Given the description of an element on the screen output the (x, y) to click on. 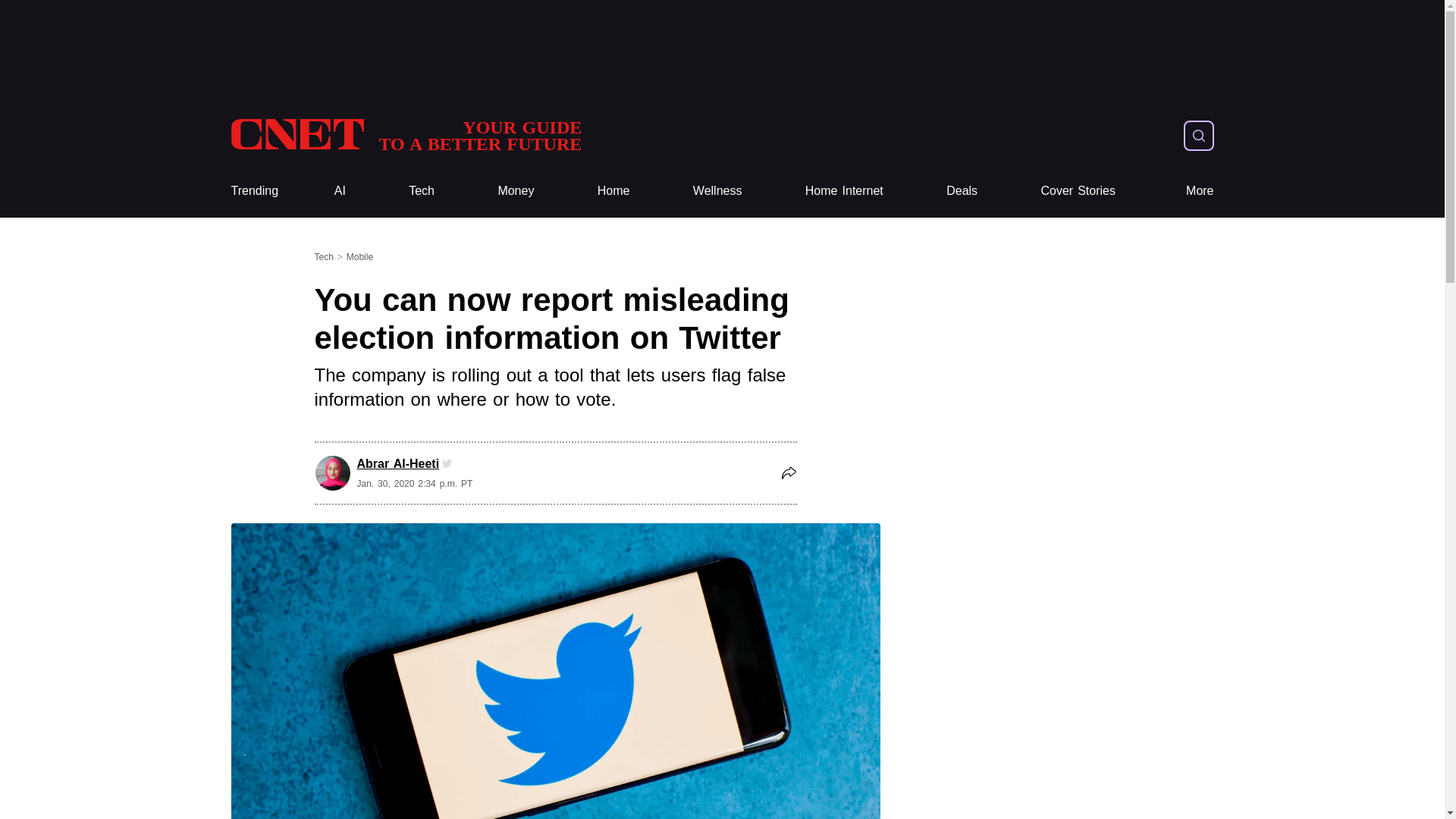
Trending (254, 190)
Wellness (717, 190)
Home (613, 190)
Home Internet (844, 190)
Tech (421, 190)
Money (515, 190)
Home Internet (844, 190)
Deals (961, 190)
Home (613, 190)
Cover Stories (1078, 190)
